Given the description of an element on the screen output the (x, y) to click on. 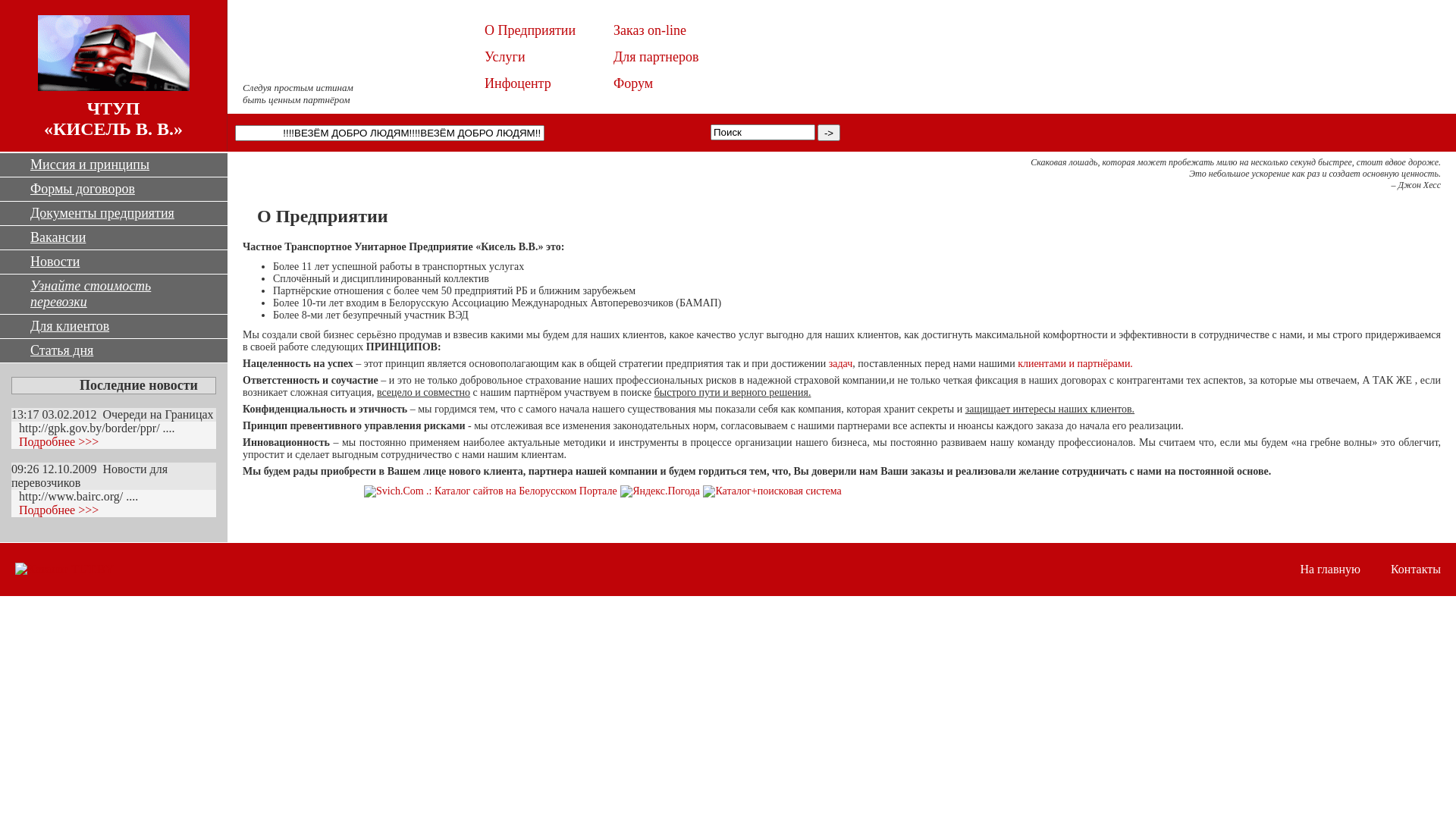
-> Element type: text (828, 132)
